Given the description of an element on the screen output the (x, y) to click on. 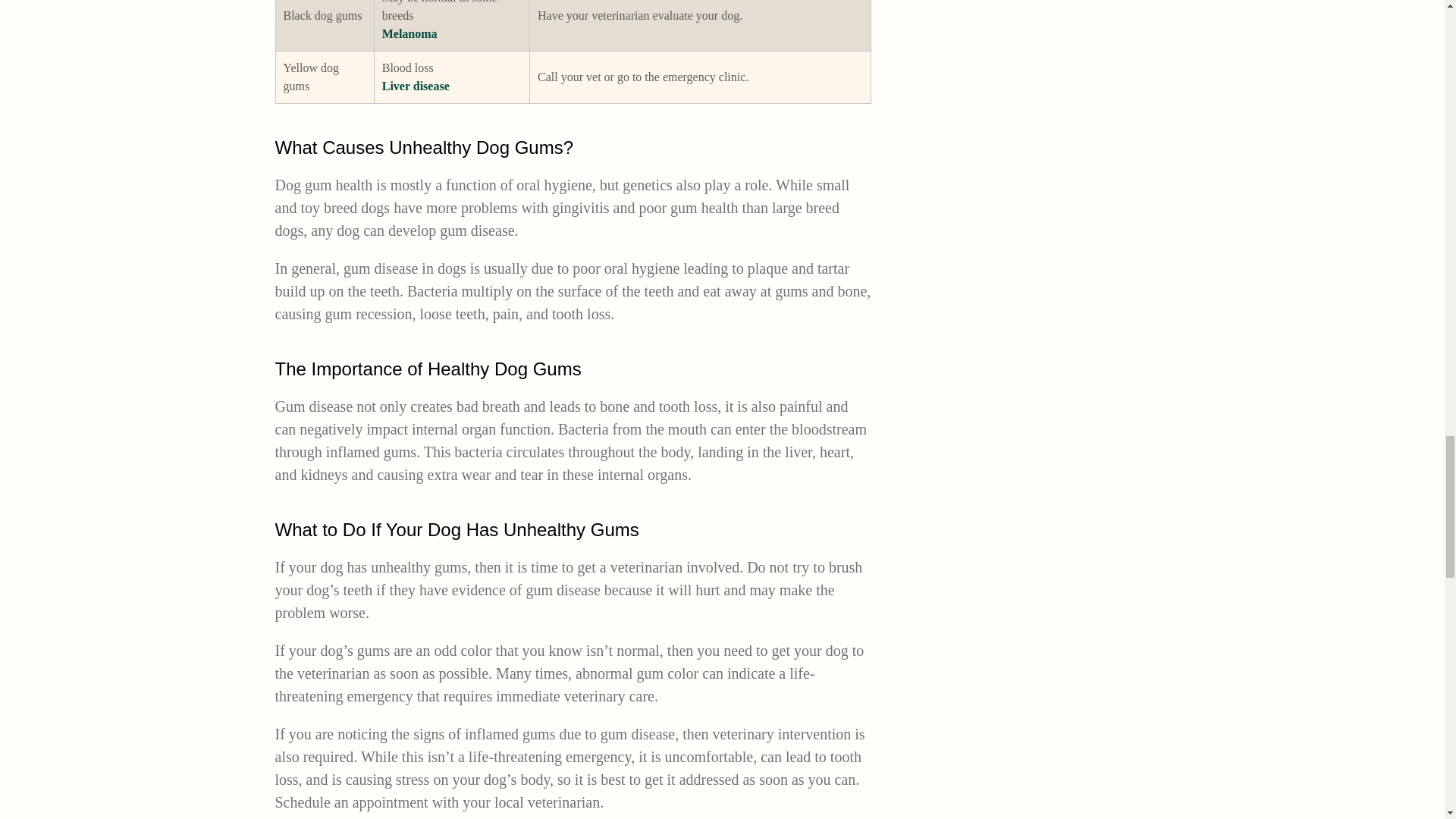
Melanoma (409, 33)
Liver disease (415, 85)
